Given the description of an element on the screen output the (x, y) to click on. 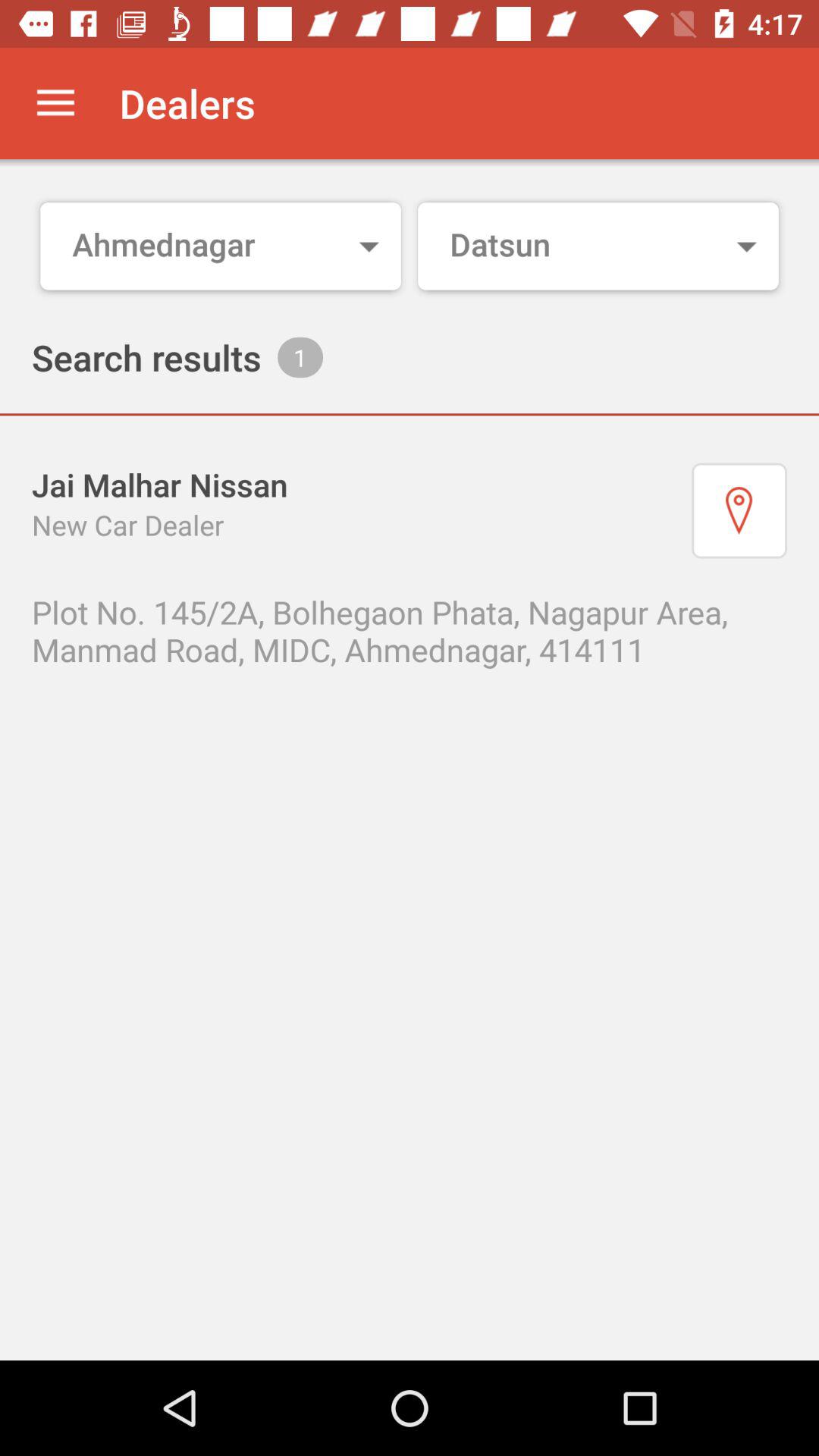
open the app to the left of dealers app (55, 103)
